Given the description of an element on the screen output the (x, y) to click on. 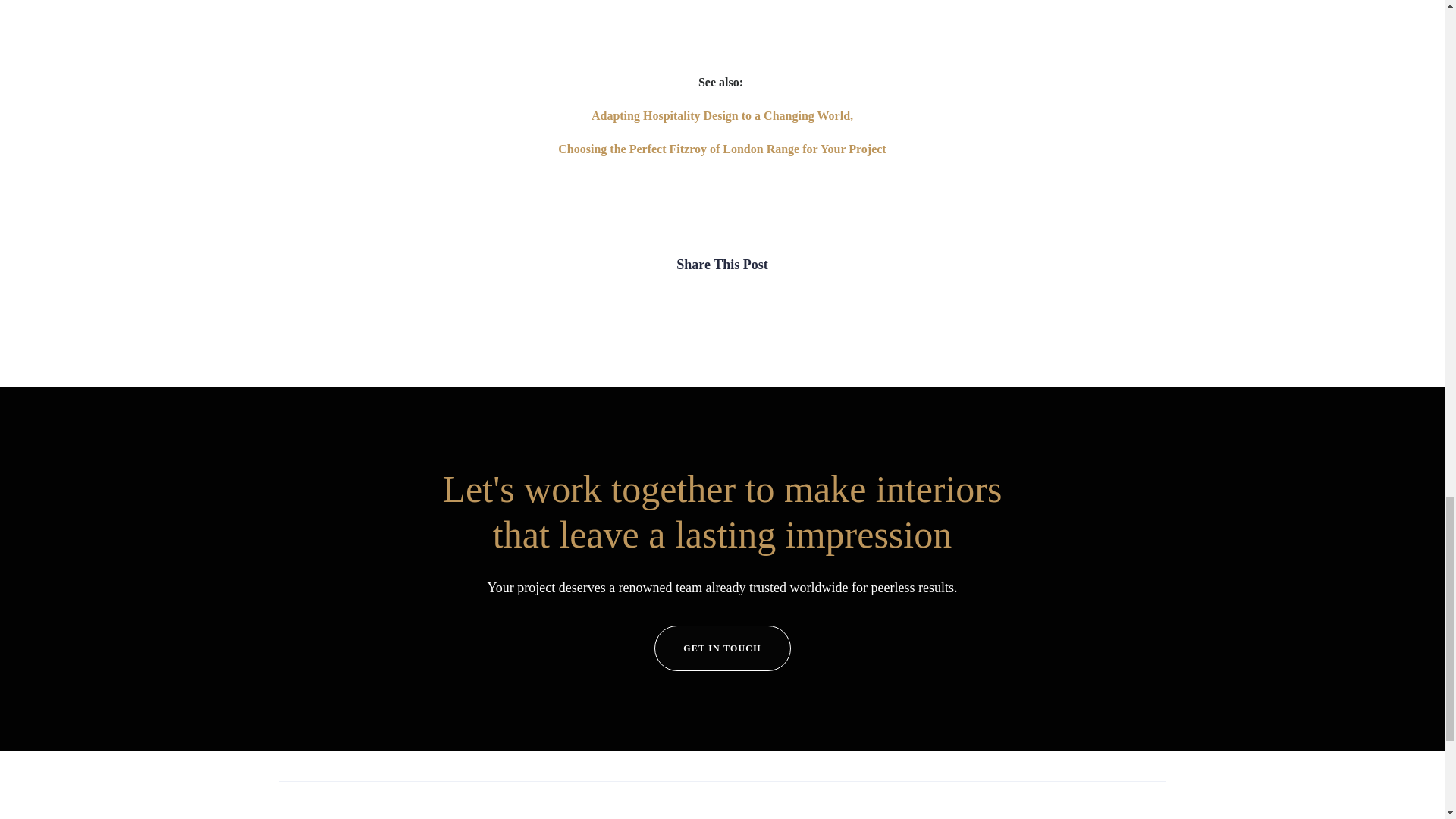
GET IN TOUCH (721, 647)
Adapting Hospitality Design to a Changing World (720, 115)
